Given the description of an element on the screen output the (x, y) to click on. 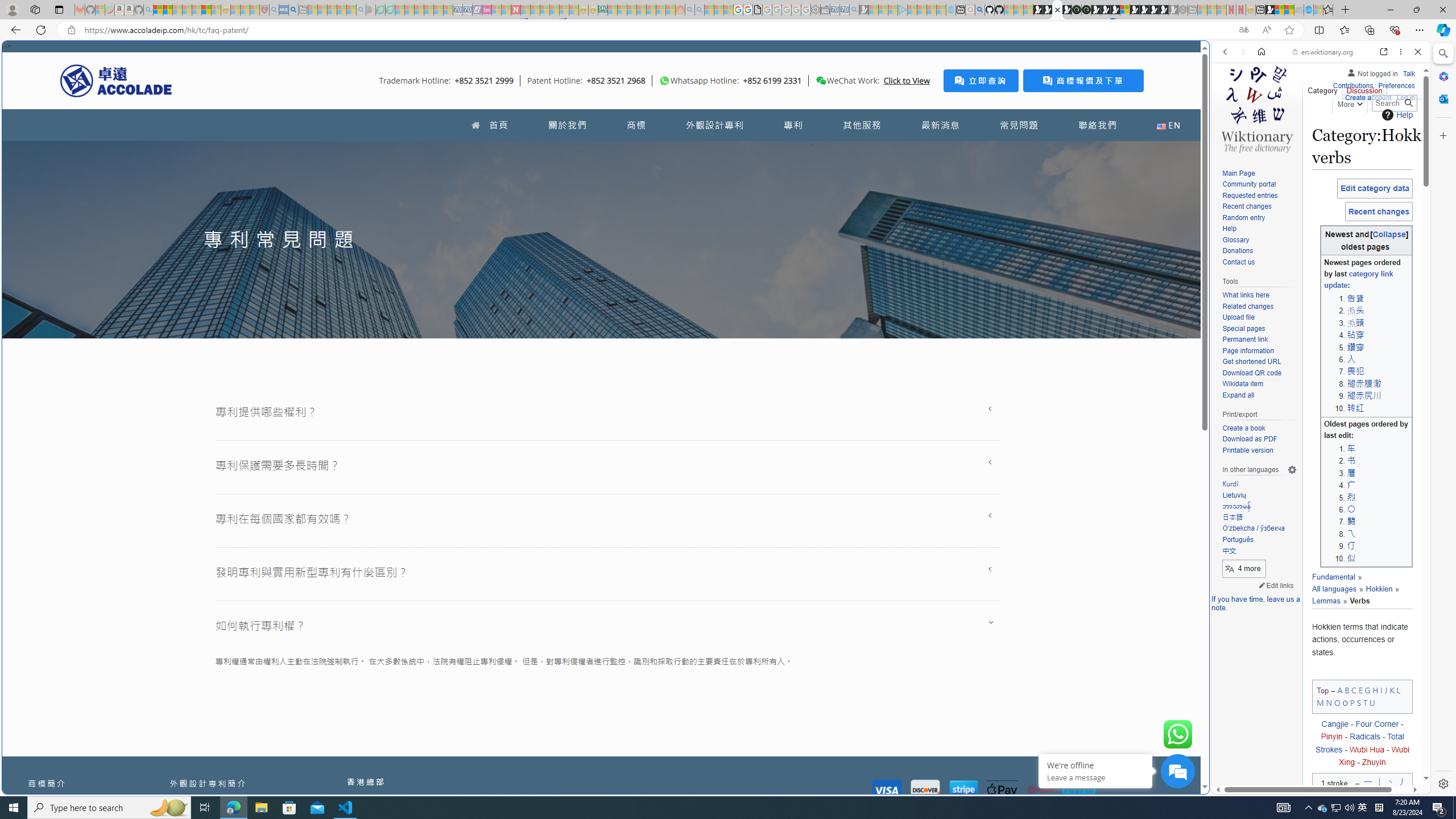
Printable version (1247, 449)
Expand all (1238, 394)
Requested entries (1249, 194)
C (1353, 689)
Earth has six continents not seven, radical new study claims (1288, 9)
Class: desktop (821, 80)
category link update (1358, 279)
